Given the description of an element on the screen output the (x, y) to click on. 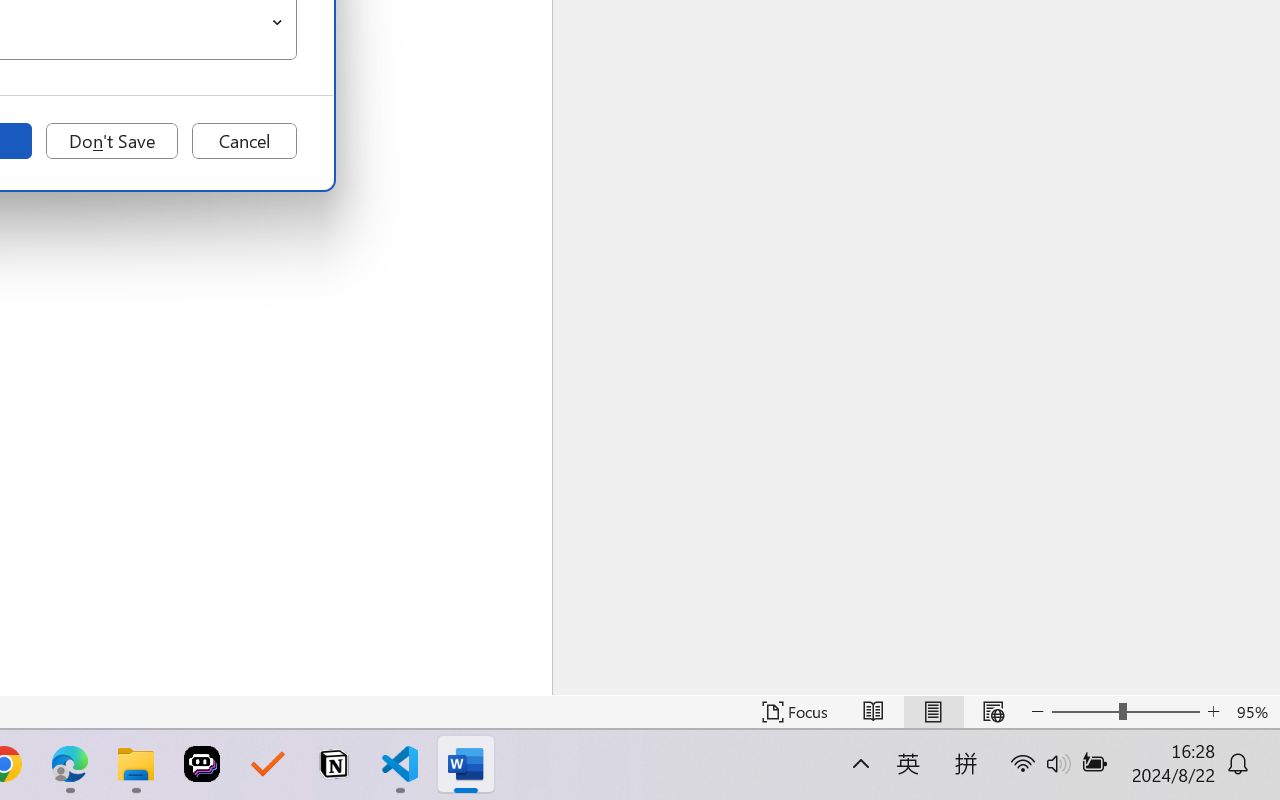
Zoom 95% (1253, 712)
Notion (333, 764)
